Given the description of an element on the screen output the (x, y) to click on. 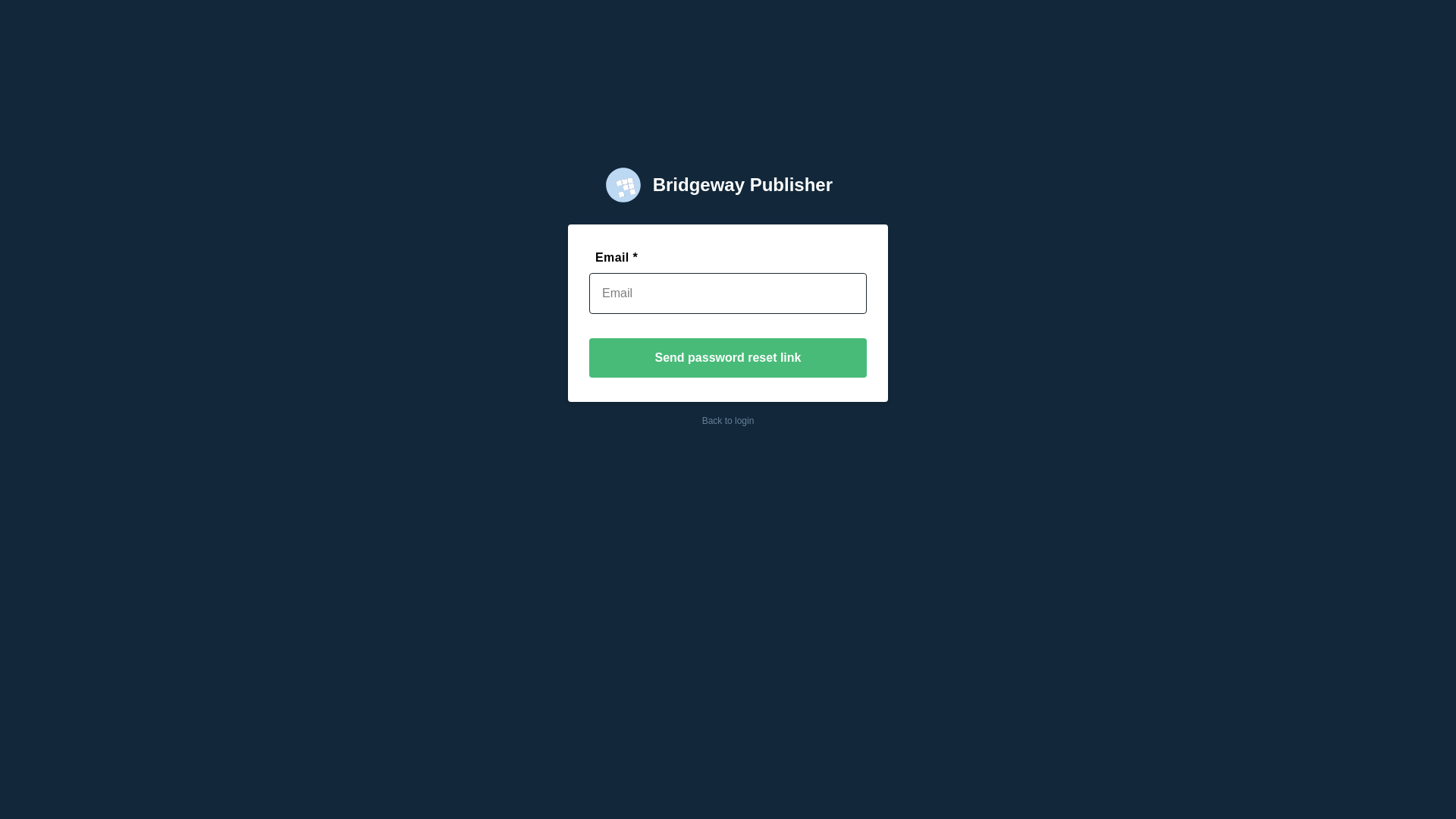
Send password reset link Element type: text (727, 357)
Back to login Element type: text (727, 420)
